Given the description of an element on the screen output the (x, y) to click on. 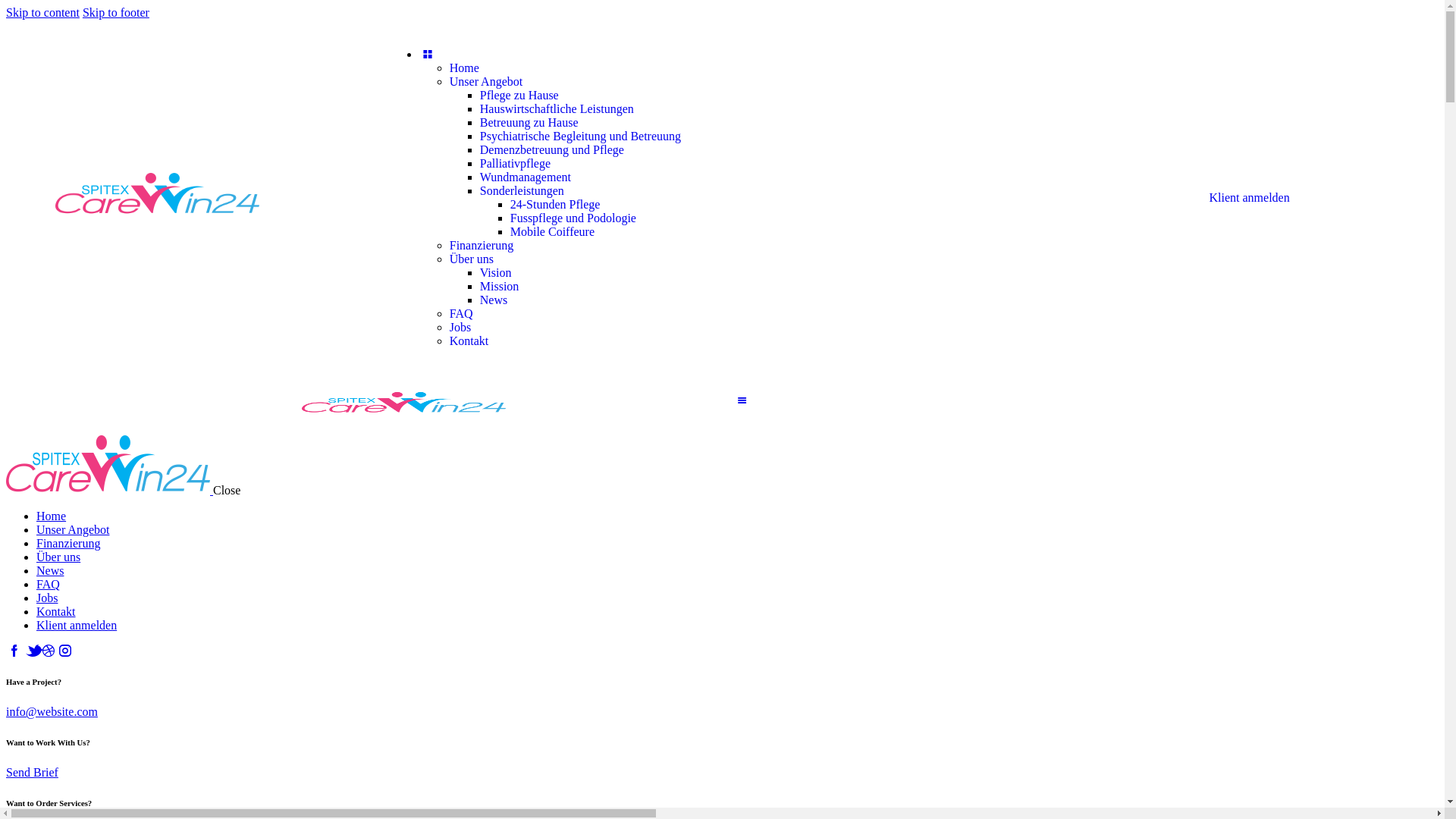
FAQ Element type: text (461, 313)
Sonderleistungen Element type: text (522, 190)
Home Element type: text (464, 67)
Klient anmelden Element type: text (76, 624)
Fusspflege und Podologie Element type: text (573, 217)
Klient anmelden Element type: text (1248, 197)
Wundmanagement Element type: text (525, 176)
Demenzbetreuung und Pflege Element type: text (552, 149)
Vision Element type: text (495, 272)
Unser Angebot Element type: text (485, 81)
Jobs Element type: text (459, 326)
Skip to footer Element type: text (115, 12)
Kontakt Element type: text (469, 340)
Finanzierung Element type: text (68, 542)
News Element type: text (49, 570)
Hauswirtschaftliche Leistungen Element type: text (556, 108)
Send Brief Element type: text (32, 771)
info@website.com Element type: text (51, 711)
Mobile Coiffeure Element type: text (552, 231)
FAQ Element type: text (47, 583)
Pflege zu Hause Element type: text (519, 94)
Mission Element type: text (499, 285)
Palliativpflege Element type: text (515, 162)
Skip to content Element type: text (42, 12)
24-Stunden Pflege Element type: text (555, 203)
News Element type: text (493, 299)
Jobs Element type: text (46, 597)
Psychiatrische Begleitung und Betreuung Element type: text (580, 135)
Kontakt Element type: text (55, 611)
Betreuung zu Hause Element type: text (529, 122)
Finanzierung Element type: text (481, 244)
Unser Angebot Element type: text (72, 529)
Close Element type: text (226, 489)
Home Element type: text (50, 515)
